Given the description of an element on the screen output the (x, y) to click on. 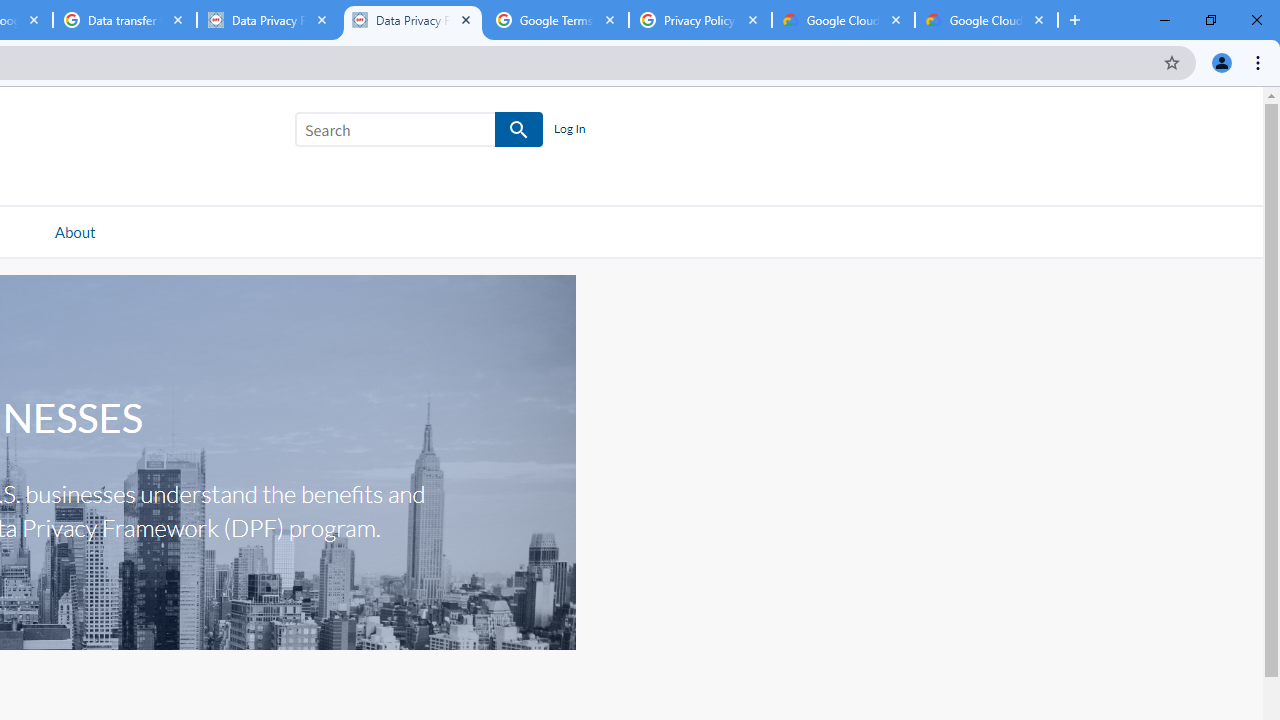
AutomationID: navitem2 (74, 231)
SEARCH (519, 130)
Search SEARCH (419, 133)
Google Cloud Privacy Notice (843, 20)
Google Cloud Privacy Notice (986, 20)
Data Privacy Framework (268, 20)
About (74, 231)
